Given the description of an element on the screen output the (x, y) to click on. 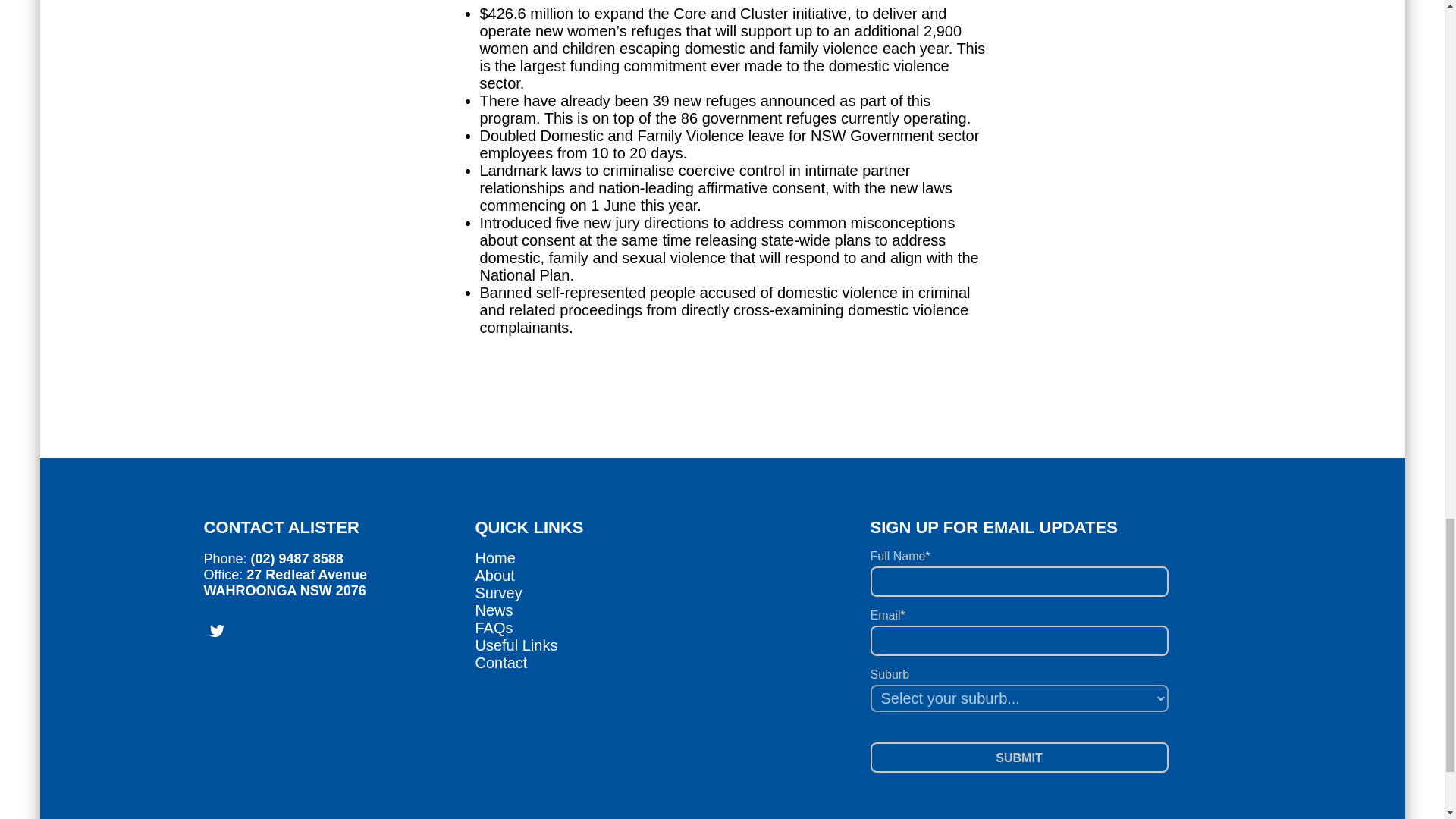
Submit (1019, 757)
News (493, 610)
Alister's Twitter account (219, 630)
About (493, 575)
FAQs (493, 627)
Home (494, 557)
Submit (1019, 757)
Go to Alister Henskens' Twitter account (219, 630)
Survey (497, 592)
Local survey for the Ku-ring-gai electorate (497, 592)
